Given the description of an element on the screen output the (x, y) to click on. 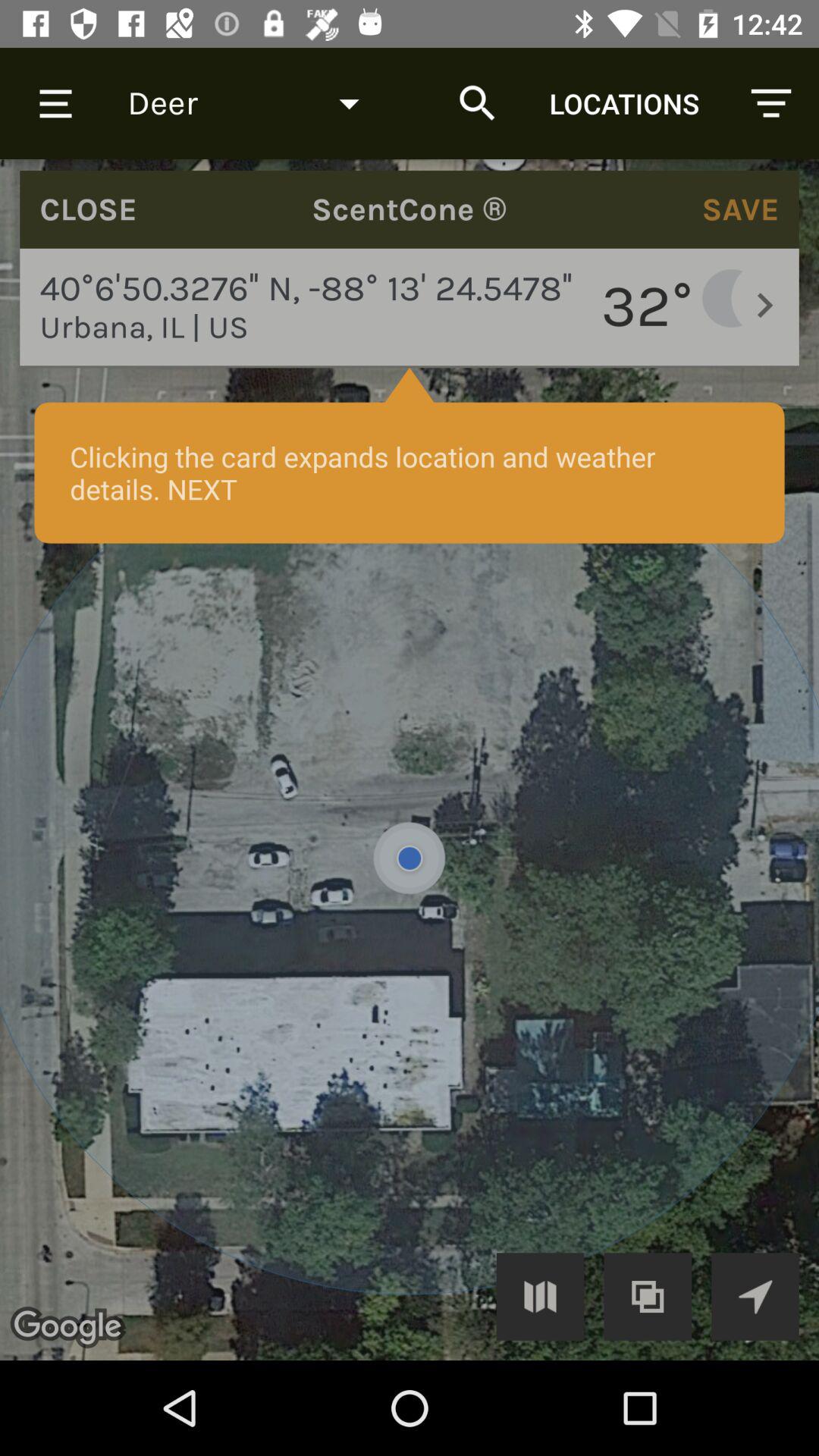
to track location/direction (755, 1296)
